Given the description of an element on the screen output the (x, y) to click on. 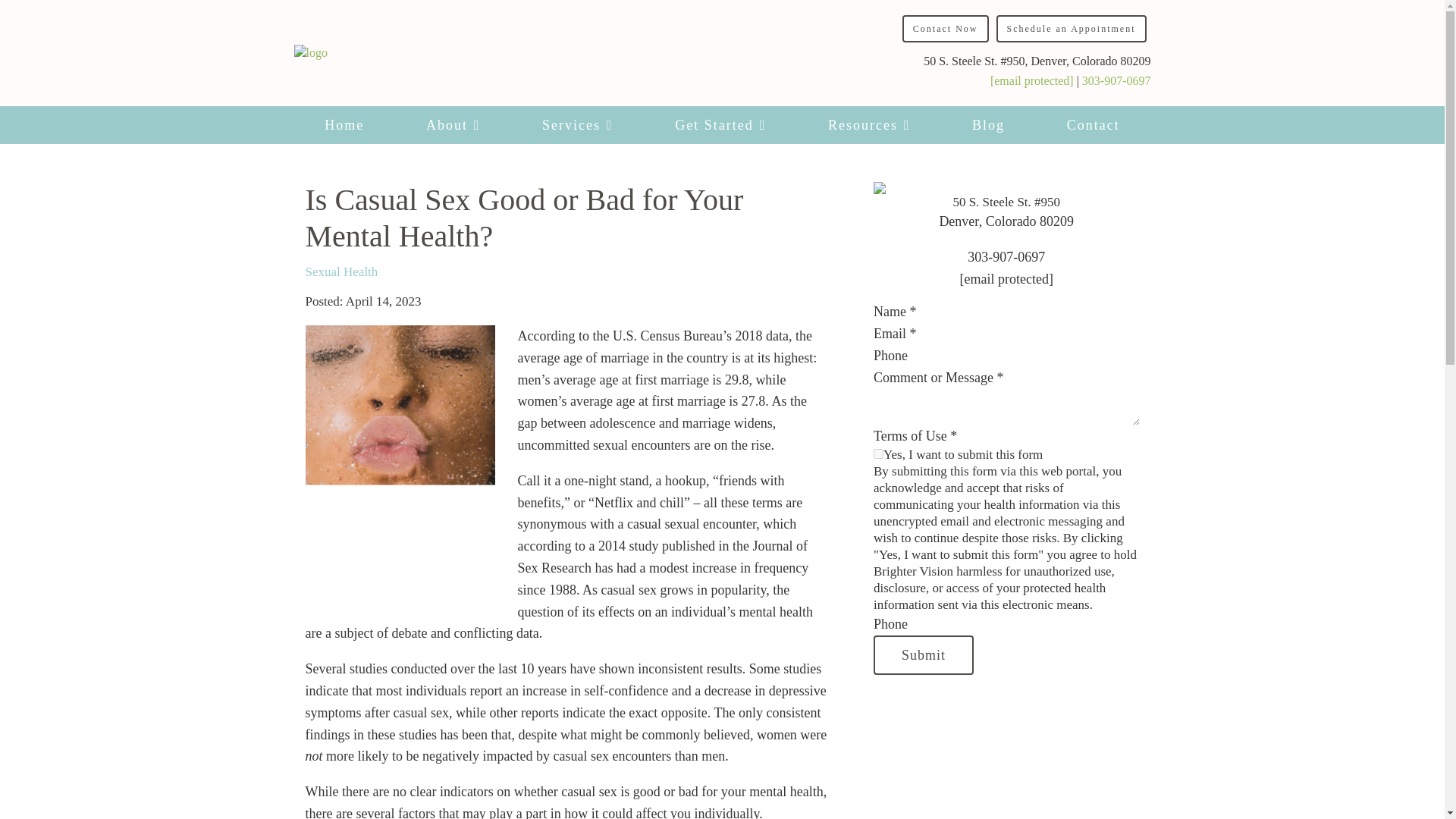
Home (344, 125)
Get Started (719, 125)
Contact Now (945, 28)
Blog (987, 125)
Schedule an Appointment (1071, 28)
303-907-0697 (1116, 80)
Yes, I want to submit this form (878, 453)
Services (577, 125)
Contact (1093, 125)
Resources (868, 125)
About (452, 125)
